Given the description of an element on the screen output the (x, y) to click on. 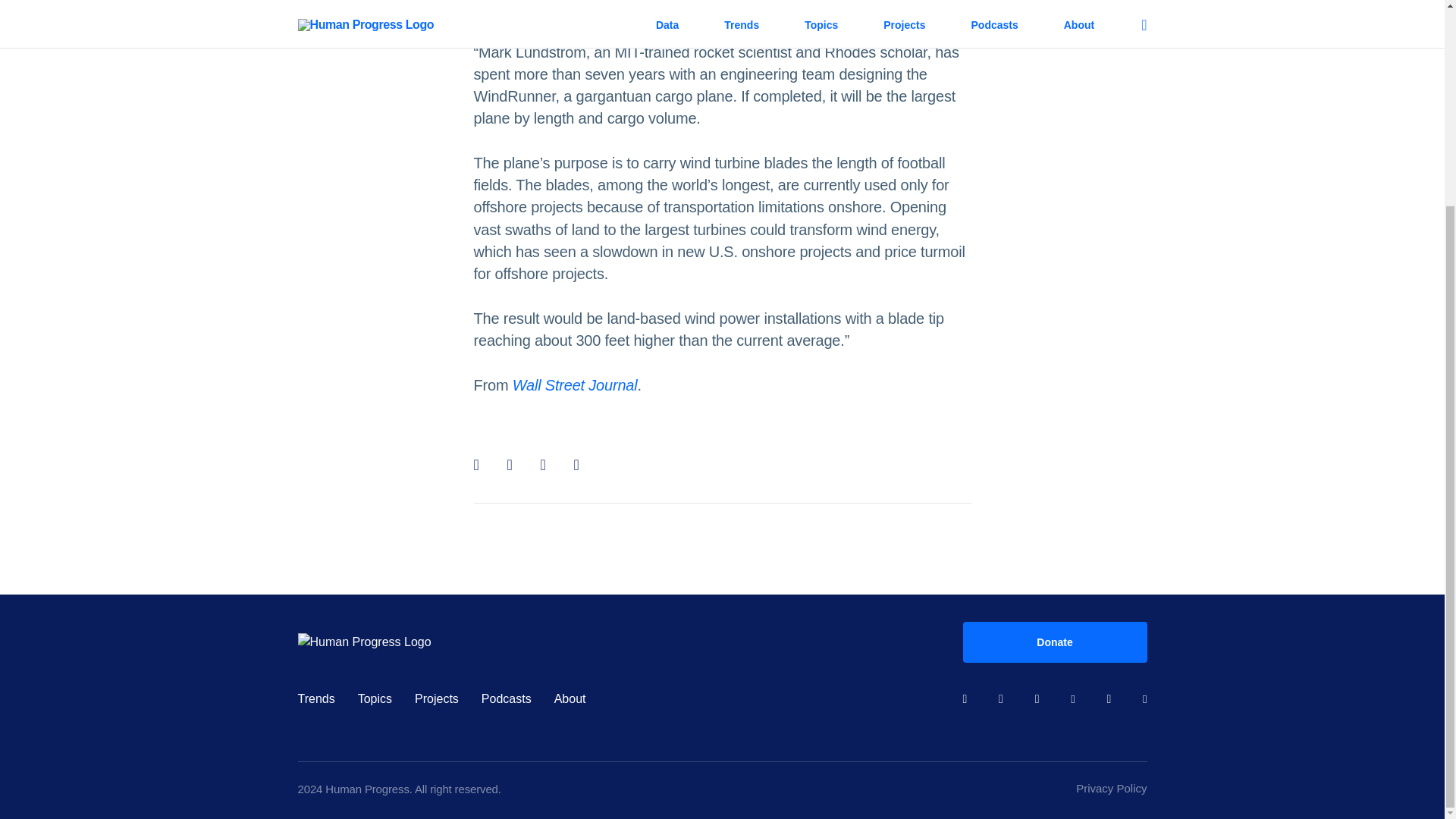
Share this post on Facebook (480, 464)
Human Progress (629, 642)
Trends (315, 699)
Share this post on Twitter (513, 464)
Podcasts (506, 699)
Donate (1054, 641)
Topics (374, 699)
About (570, 699)
Wall Street Journal (574, 384)
Email this Post (580, 464)
